Given the description of an element on the screen output the (x, y) to click on. 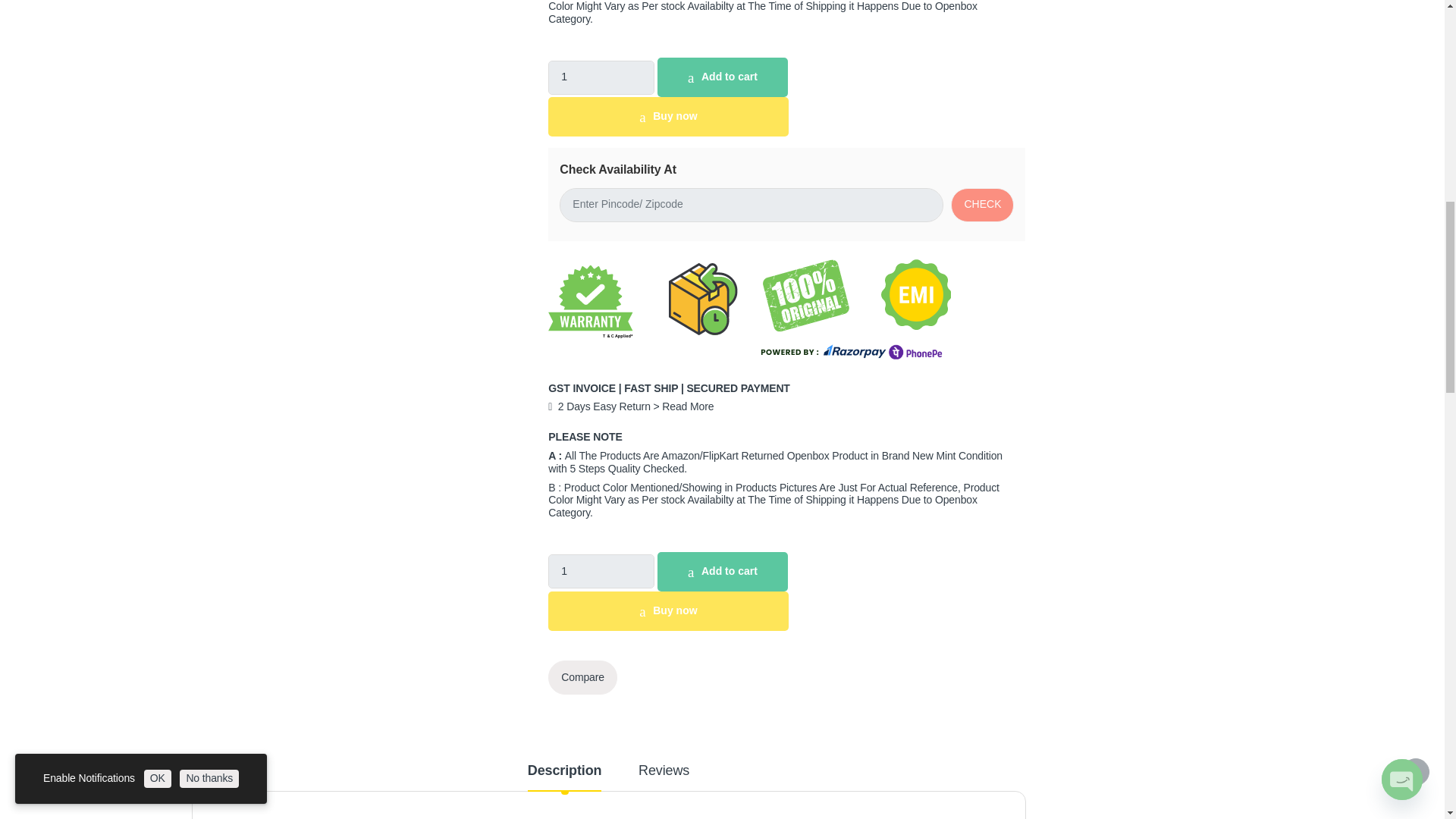
1 (600, 77)
1 (600, 571)
CHECK (981, 204)
